Given the description of an element on the screen output the (x, y) to click on. 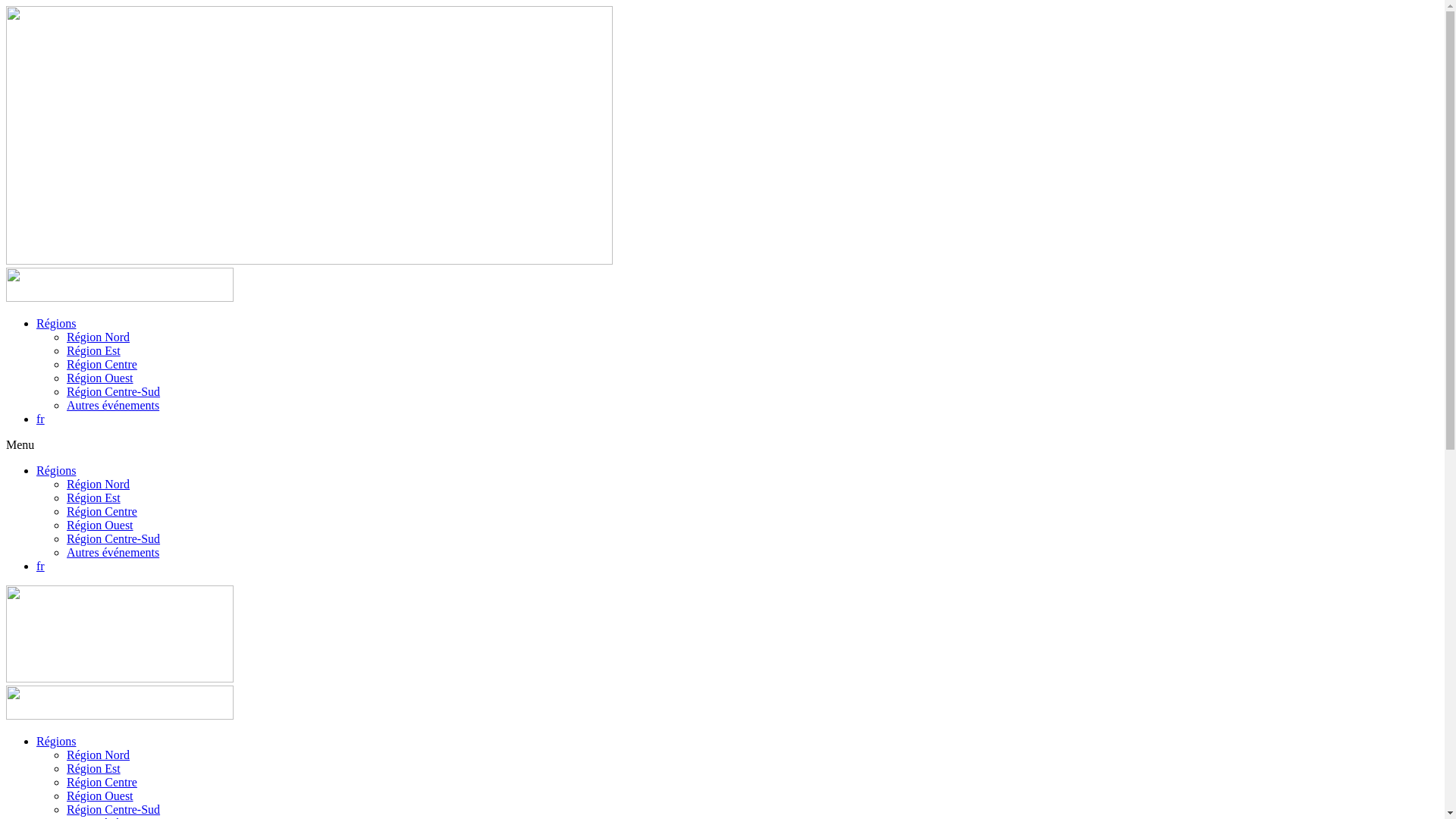
fr Element type: text (40, 565)
fr Element type: text (40, 418)
